Given the description of an element on the screen output the (x, y) to click on. 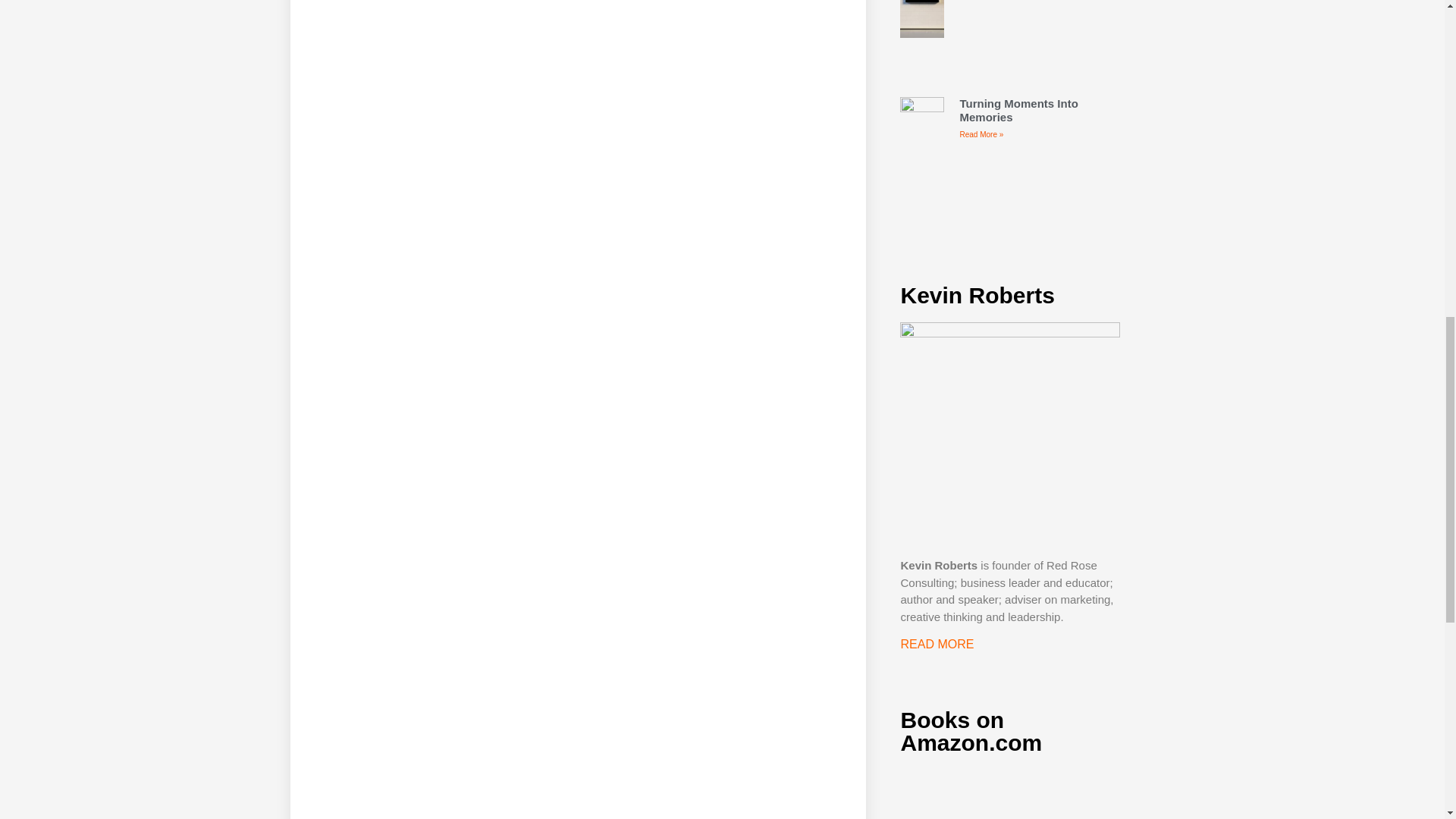
READ MORE (936, 644)
Turning Moments Into Memories (1018, 110)
BUY NOW (1009, 794)
